Given the description of an element on the screen output the (x, y) to click on. 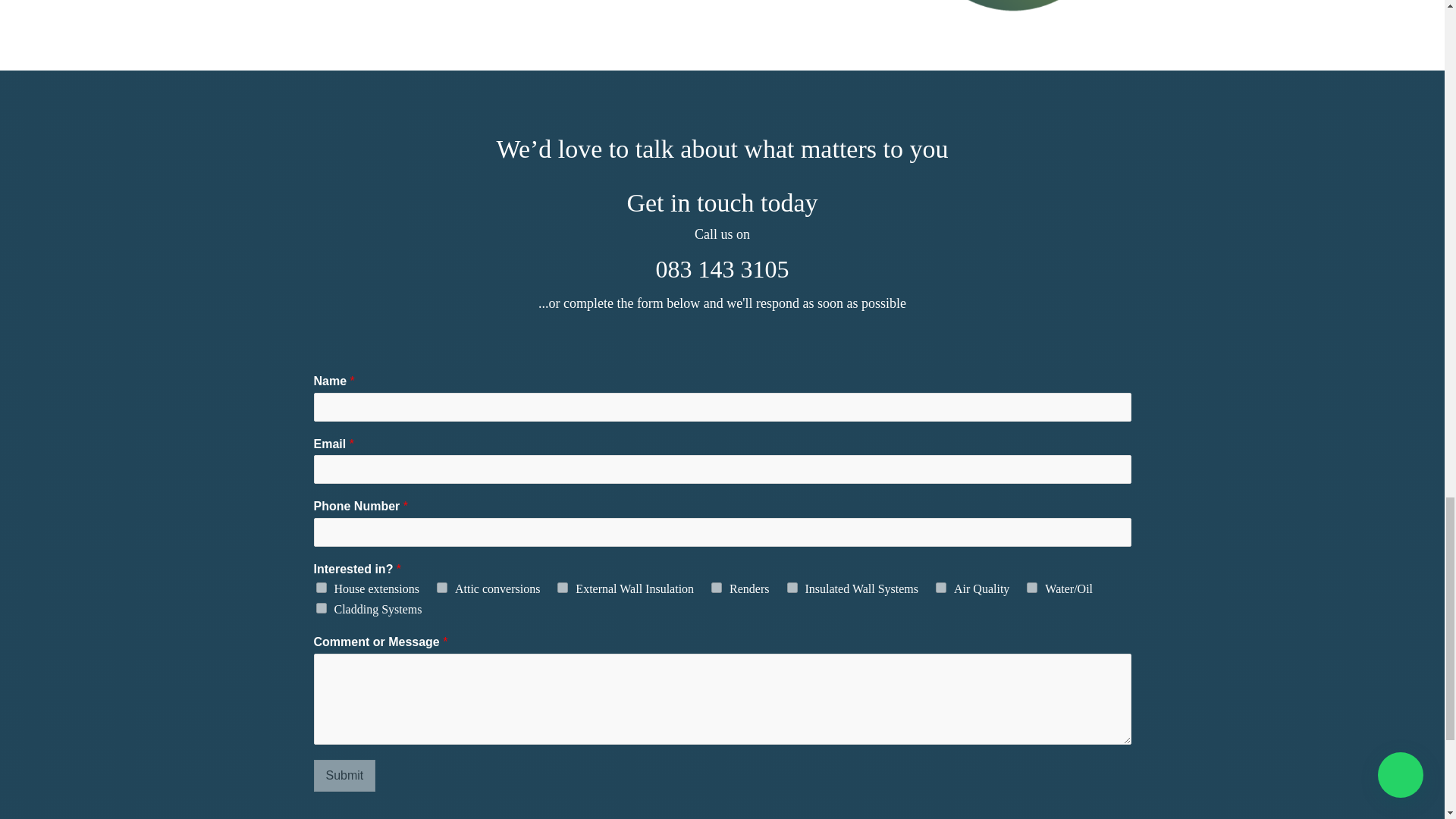
Air Quality (941, 587)
Insulated Wall Systems (792, 587)
External Wall Insulation (562, 587)
Submit (344, 775)
Attic conversions (441, 587)
Renders (716, 587)
House extensions (320, 587)
Cladding Systems (320, 607)
083 143 3105 (722, 268)
